Given the description of an element on the screen output the (x, y) to click on. 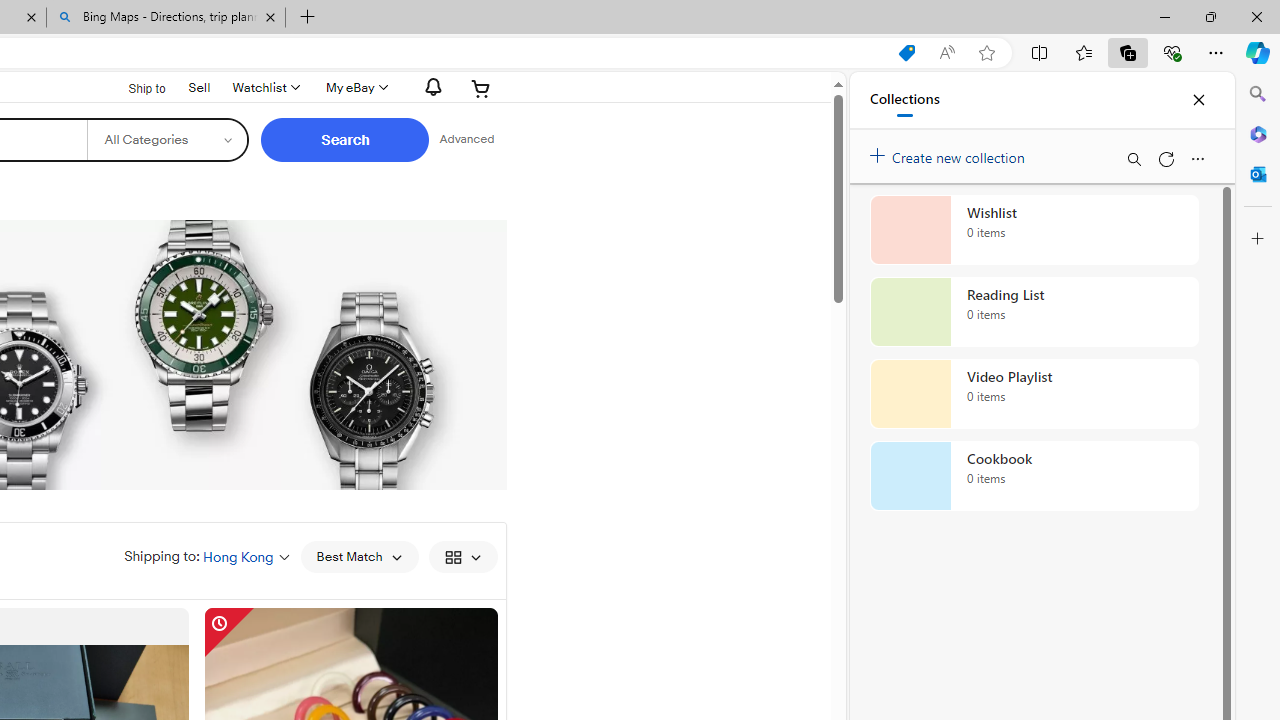
Shipping to: Hong Kong (207, 556)
Expand Cart (481, 88)
Video Playlist collection, 0 items (1034, 394)
WatchlistExpand Watch List (264, 88)
Watchlist (264, 88)
AutomationID: gh-eb-Alerts (430, 87)
My eBayExpand My eBay (354, 88)
